Given the description of an element on the screen output the (x, y) to click on. 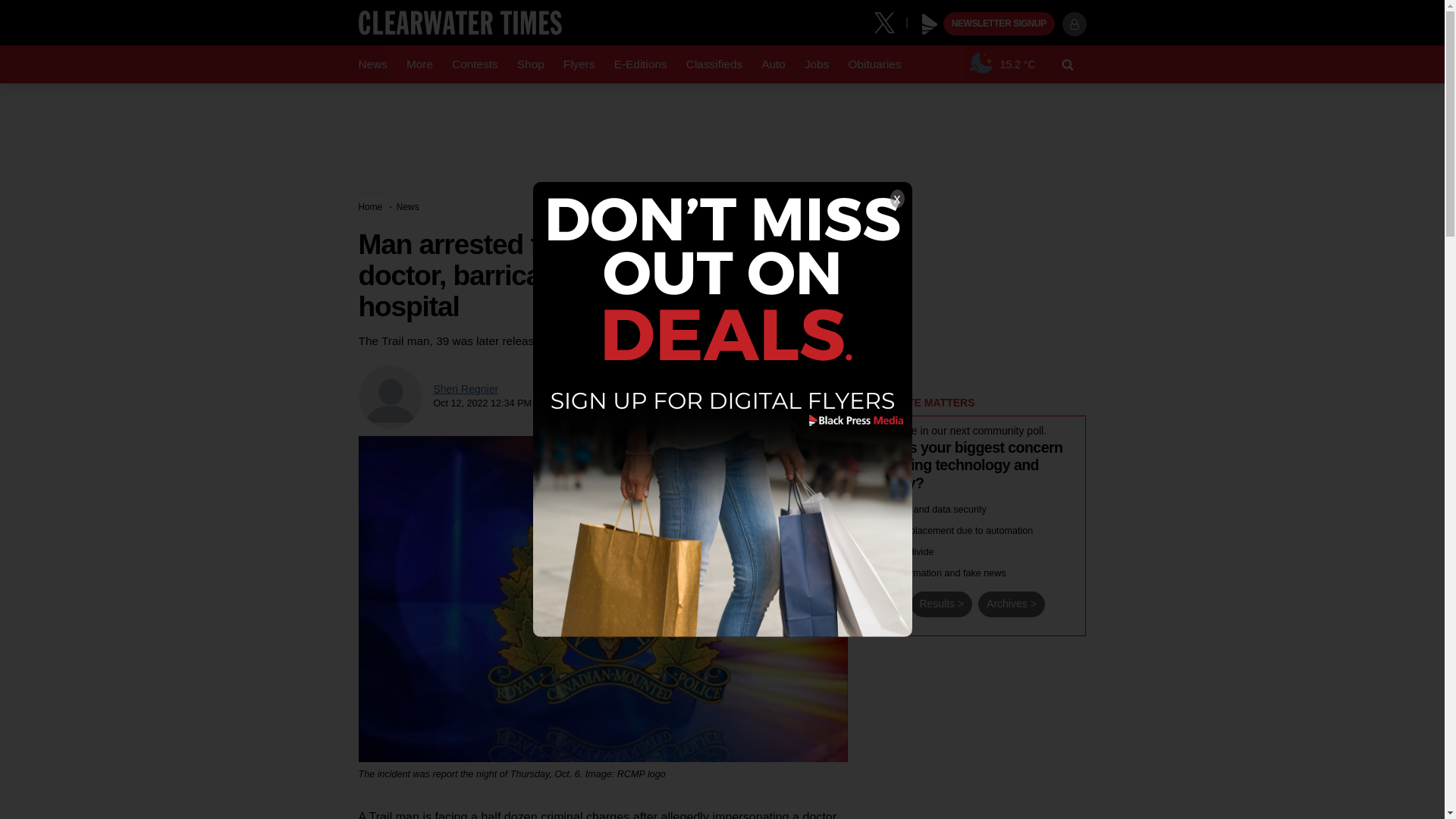
X (889, 21)
150 (872, 507)
Black Press Media (929, 24)
152 (872, 550)
News (372, 64)
151 (872, 528)
NEWSLETTER SIGNUP (998, 24)
153 (872, 571)
Play (929, 24)
